Given the description of an element on the screen output the (x, y) to click on. 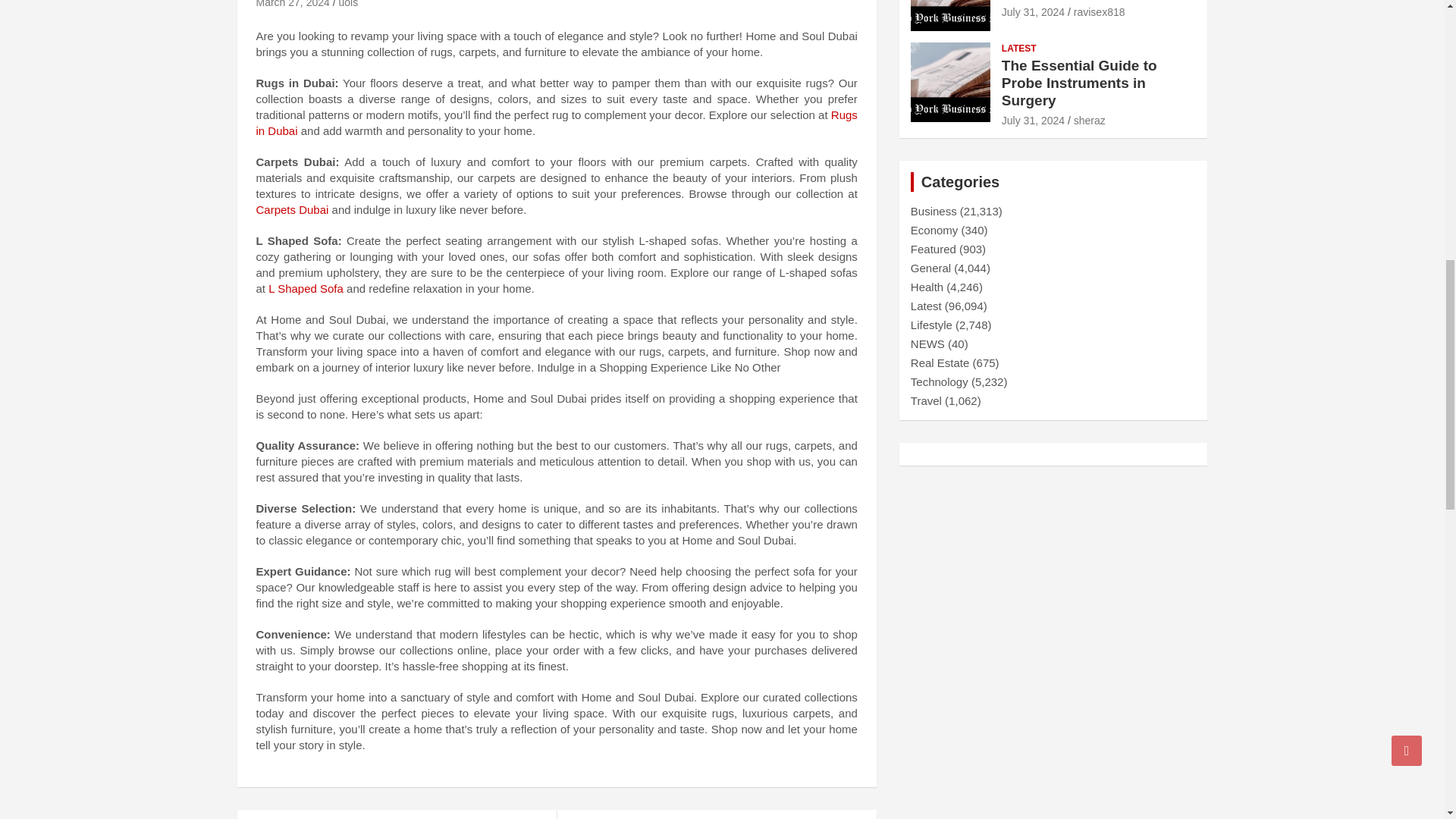
L Shaped Sofa (305, 287)
Rugs in Dubai (556, 122)
Carpets Dubai (292, 209)
March 27, 2024 (293, 4)
The Essential Guide to Probe Instruments in Surgery (1032, 120)
uois (347, 4)
